Given the description of an element on the screen output the (x, y) to click on. 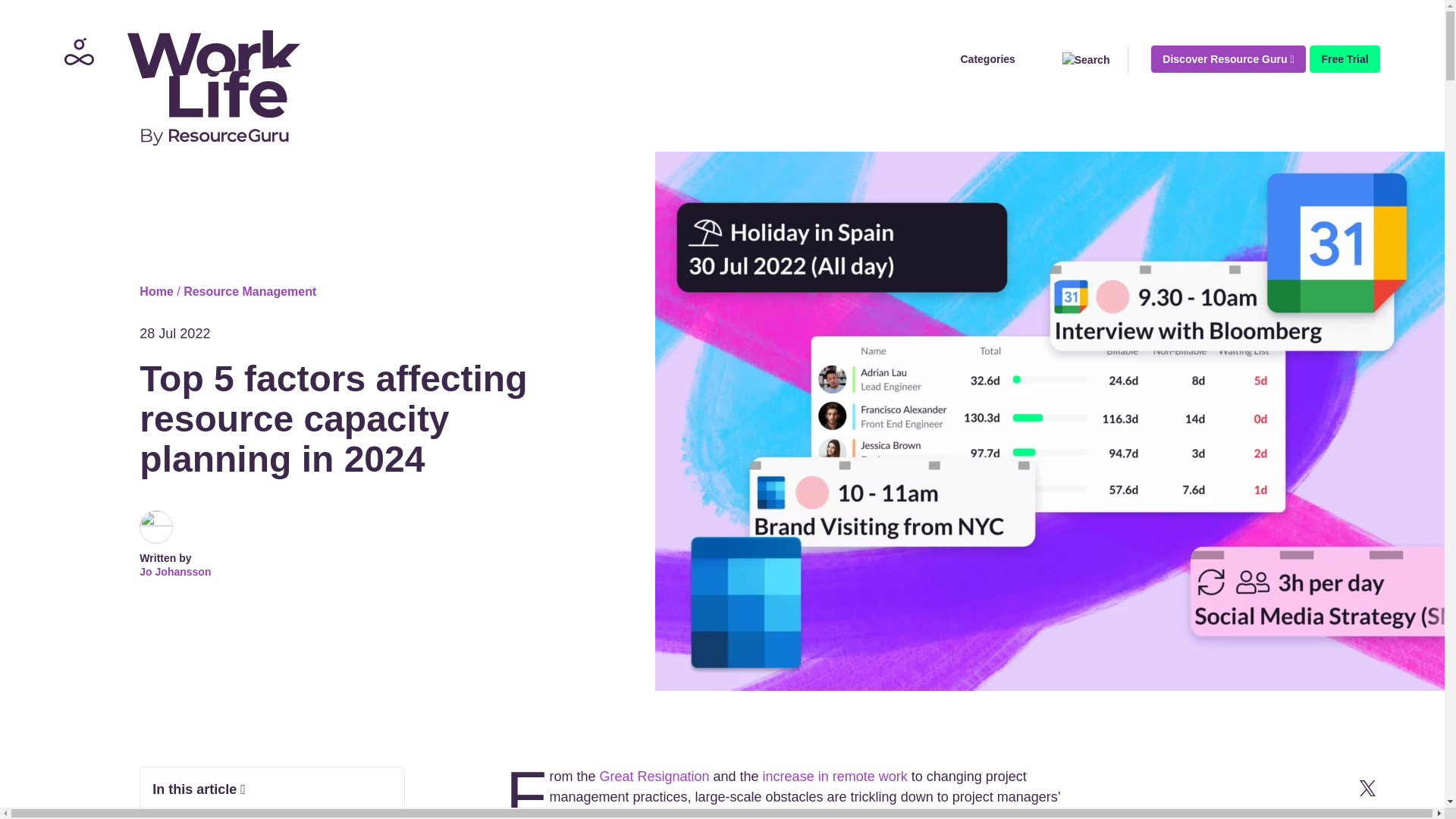
Resource Guru (178, 87)
Resource Management (249, 291)
increase in remote work (834, 776)
Posts by Jo Johansson (175, 571)
Home (156, 291)
Great Resignation (653, 776)
Free Trial (1343, 58)
Jo Johansson (175, 571)
